Given the description of an element on the screen output the (x, y) to click on. 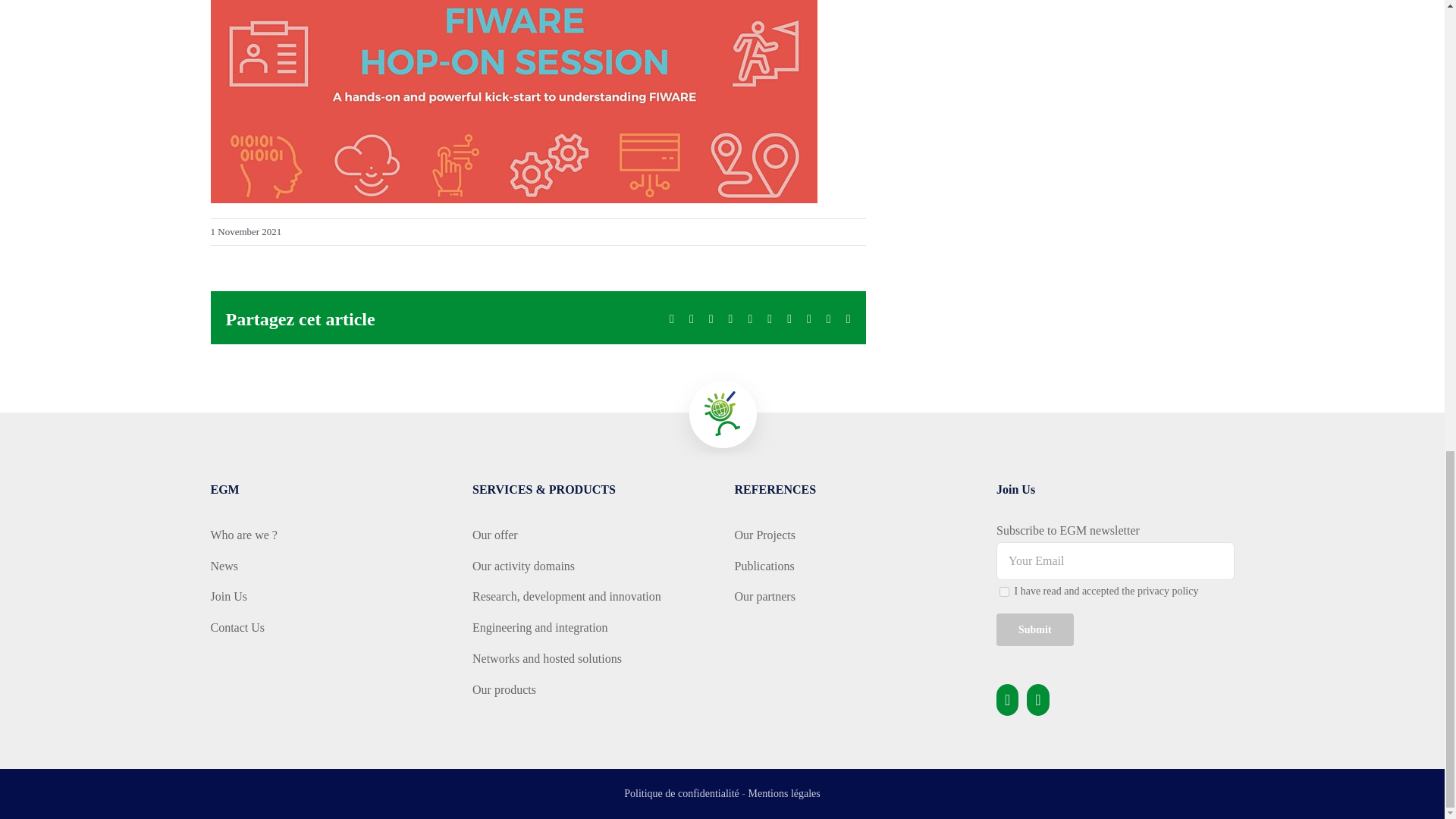
Who are we ? (329, 535)
News (329, 567)
Contact Us (329, 628)
1 (1003, 592)
Submit (1034, 629)
Join Us (329, 597)
